Given the description of an element on the screen output the (x, y) to click on. 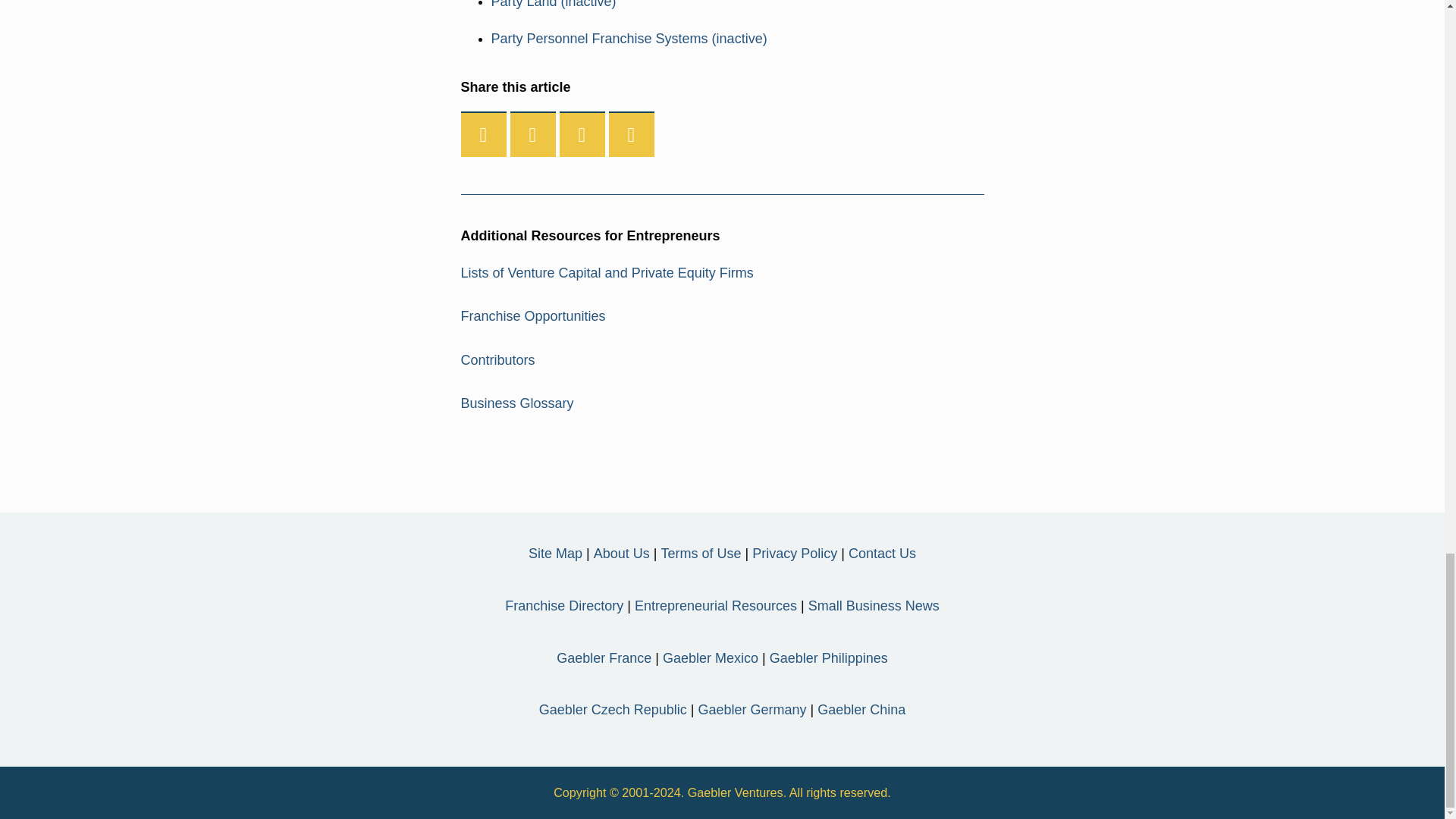
Email (630, 135)
Facebook (483, 135)
Twitter (533, 135)
Linkedin (582, 135)
